Given the description of an element on the screen output the (x, y) to click on. 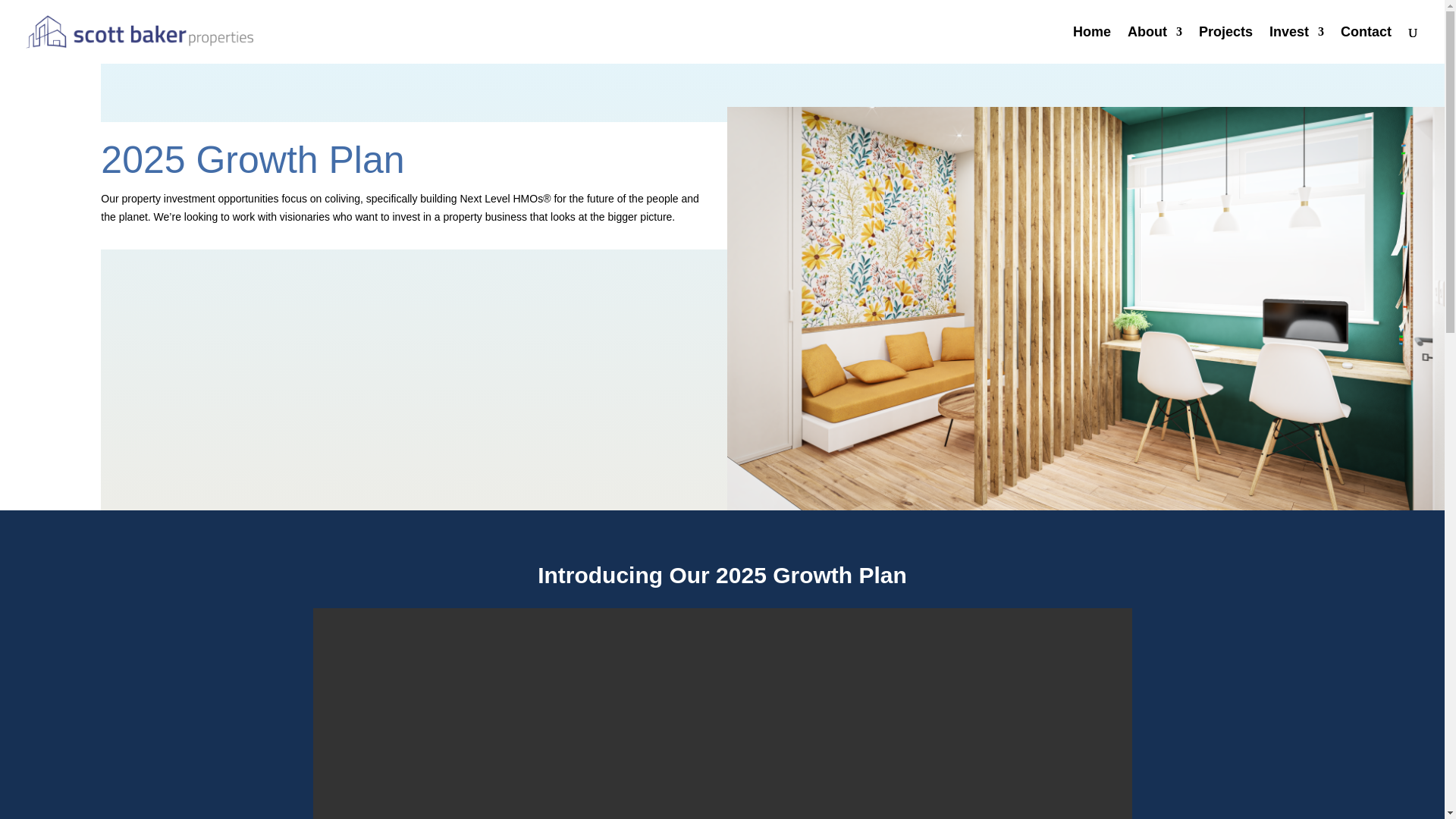
Home (1091, 44)
Invest (1296, 44)
Projects (1225, 44)
About (1154, 44)
Contact (1365, 44)
